Given the description of an element on the screen output the (x, y) to click on. 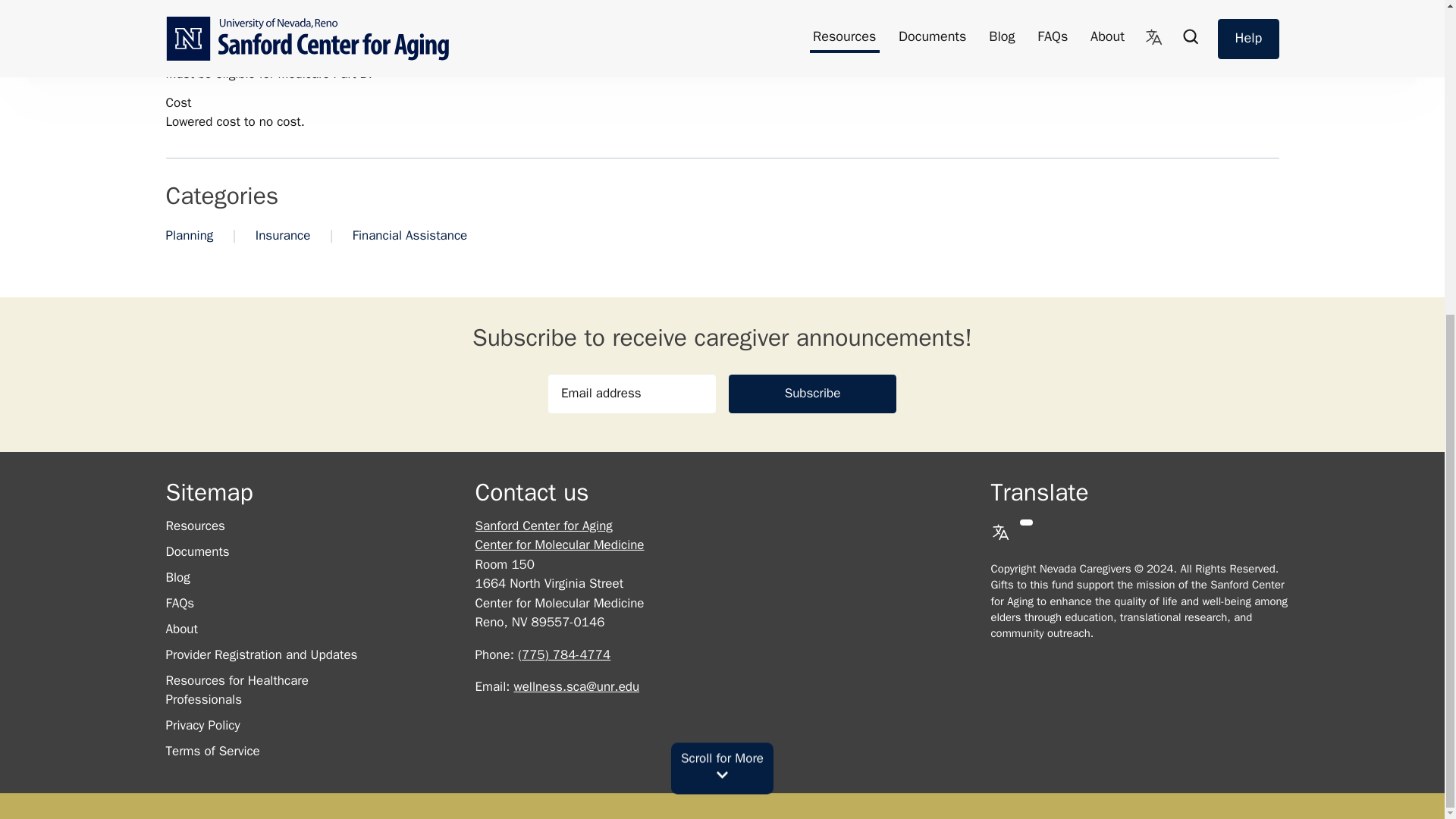
Resources for Healthcare Professionals (236, 690)
Scroll for More (722, 256)
Planning (188, 235)
Terms of Service (212, 750)
Email address (632, 392)
Financial Assistance (409, 235)
FAQs (179, 602)
Senior Rx Google Map (1005, 43)
Insurance (283, 235)
Subscribe (812, 392)
